Given the description of an element on the screen output the (x, y) to click on. 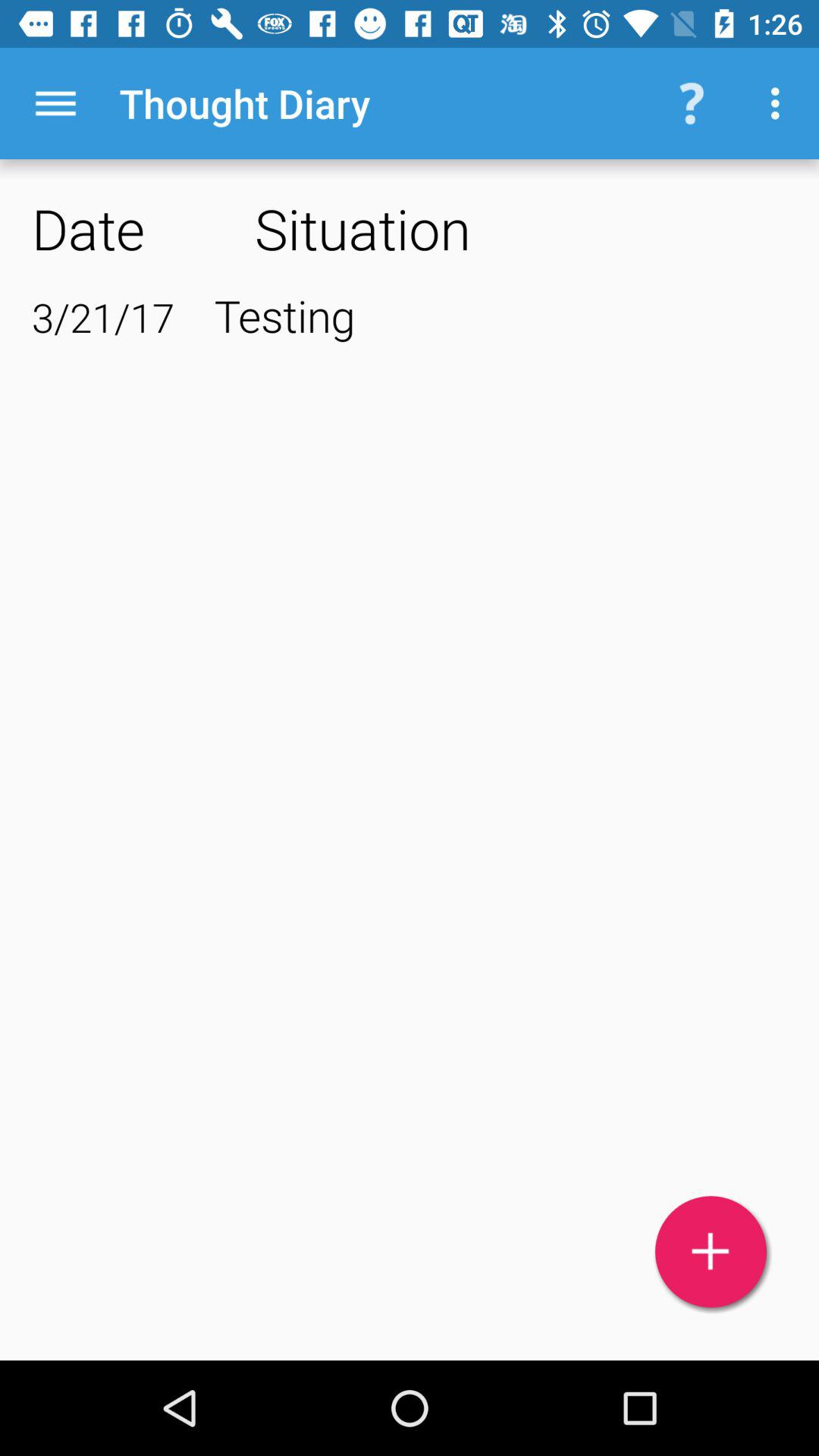
swipe until testing app (500, 315)
